Given the description of an element on the screen output the (x, y) to click on. 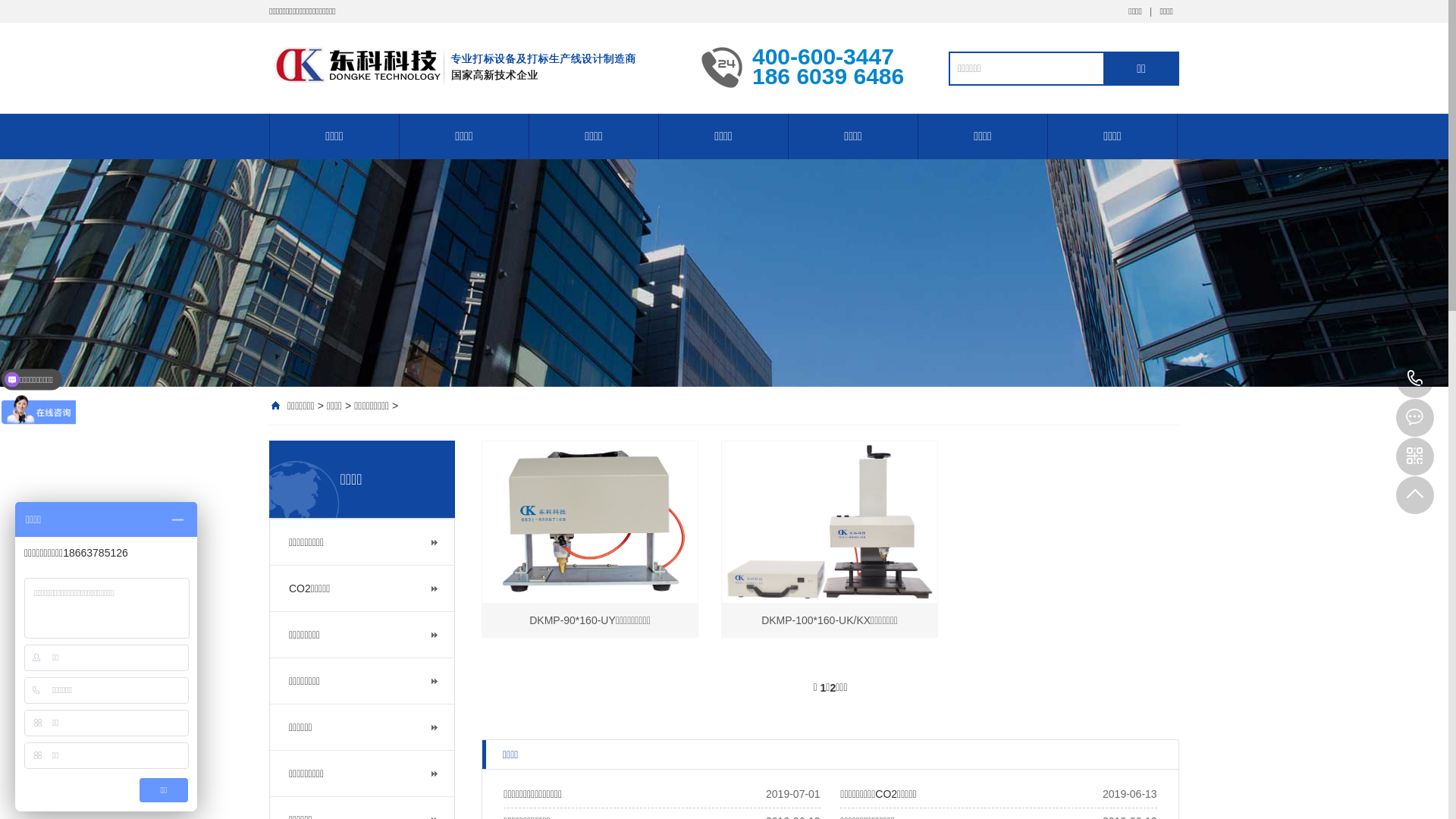
400-600-3447 Element type: text (1415, 379)
